Given the description of an element on the screen output the (x, y) to click on. 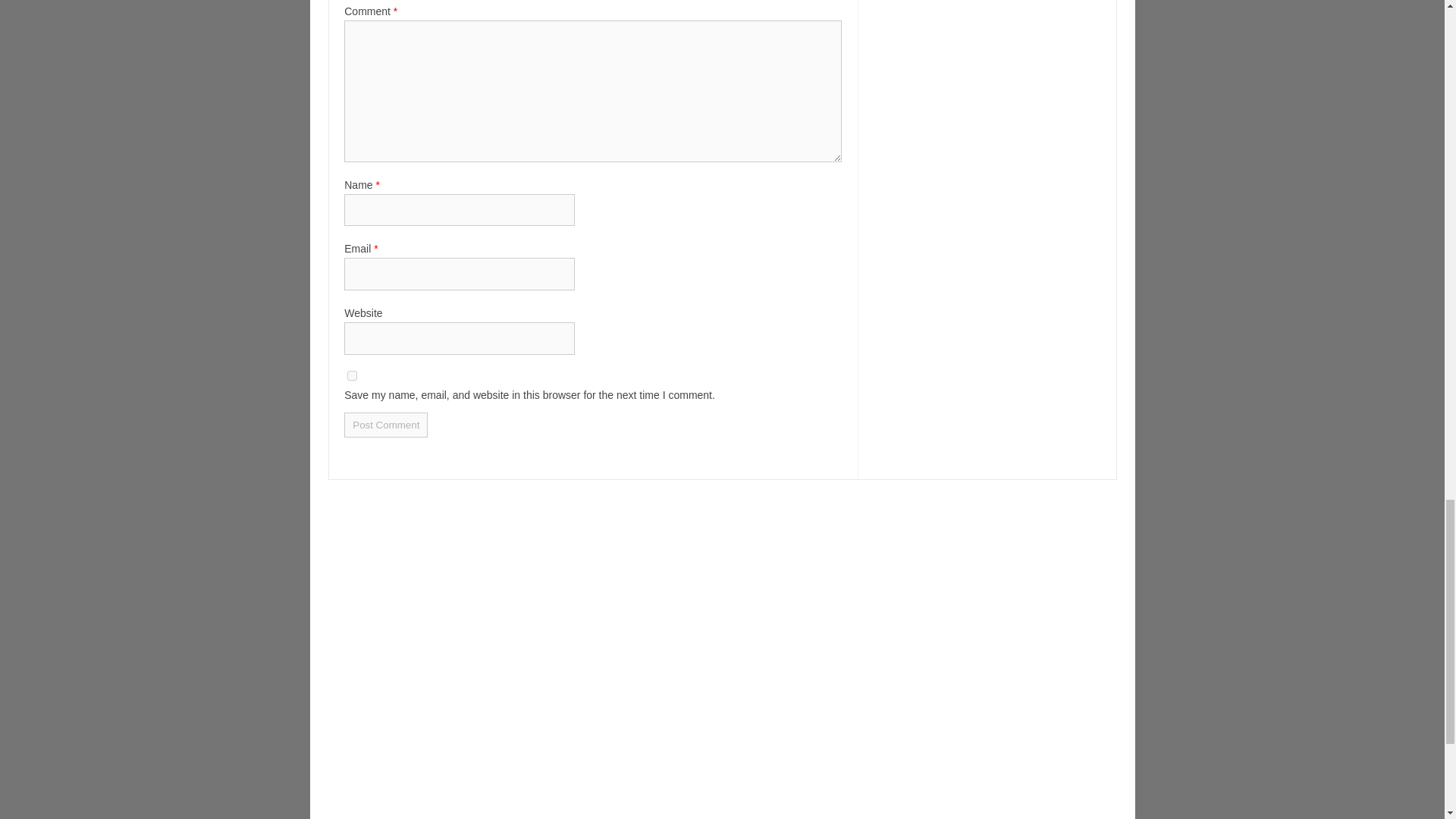
Advertisement (721, 763)
Post Comment (385, 424)
Post Comment (385, 424)
yes (351, 375)
